Given the description of an element on the screen output the (x, y) to click on. 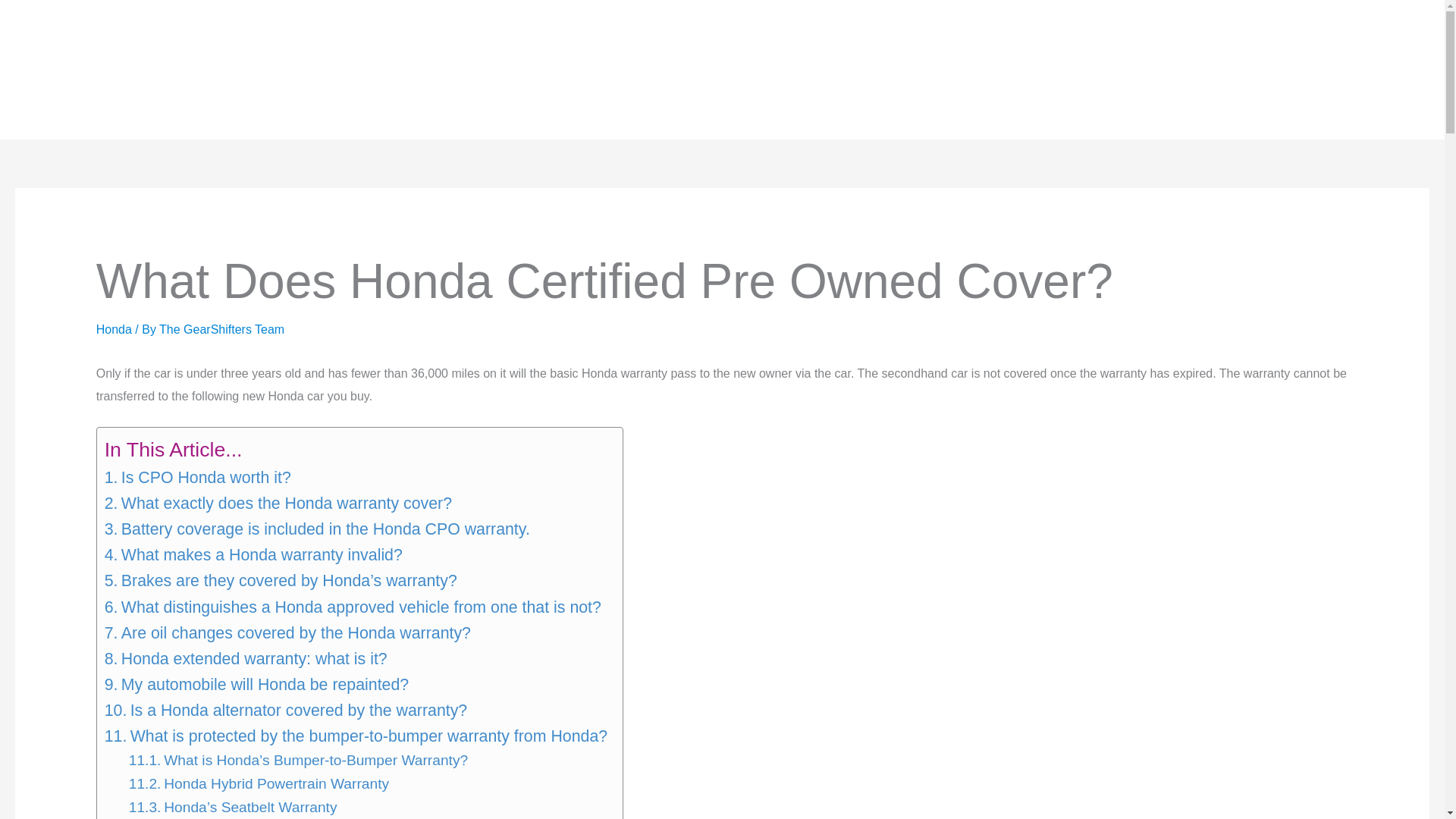
REVIEWS (172, 69)
ABOUT (1320, 70)
ALL (366, 69)
Is CPO Honda worth it? (197, 477)
Honda Hybrid Powertrain Warranty (258, 784)
What makes a Honda warranty invalid? (253, 555)
Honda Hybrid Powertrain Warranty (258, 784)
Are oil changes covered by the Honda warranty? (287, 632)
